Given the description of an element on the screen output the (x, y) to click on. 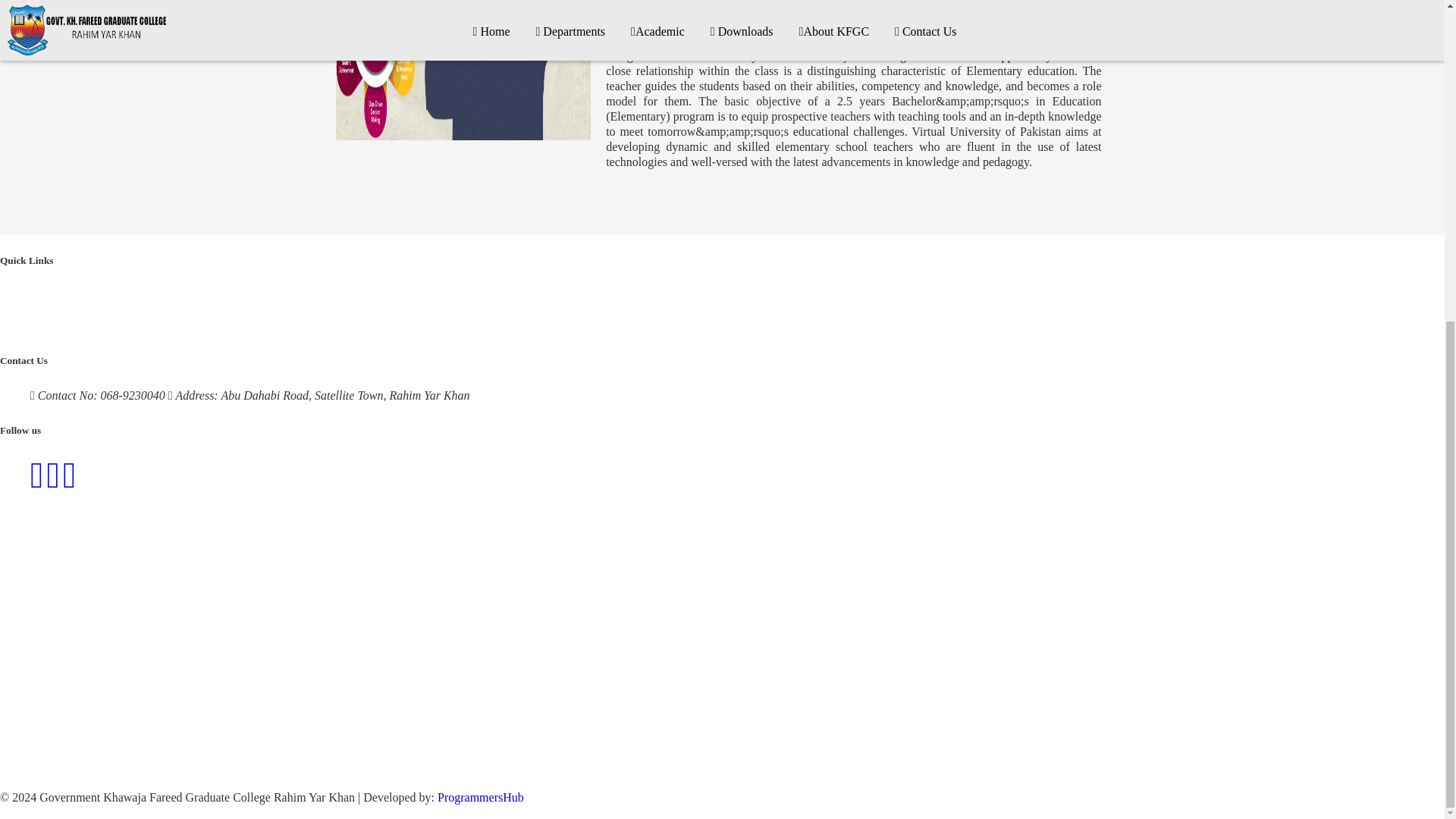
Programs (100, 295)
Fee Structure (227, 313)
Admission (234, 295)
ProgrammersHub (478, 797)
Merit Lists (64, 313)
Faculty (119, 313)
Results (166, 313)
Departments (165, 295)
Home (51, 295)
